Given the description of an element on the screen output the (x, y) to click on. 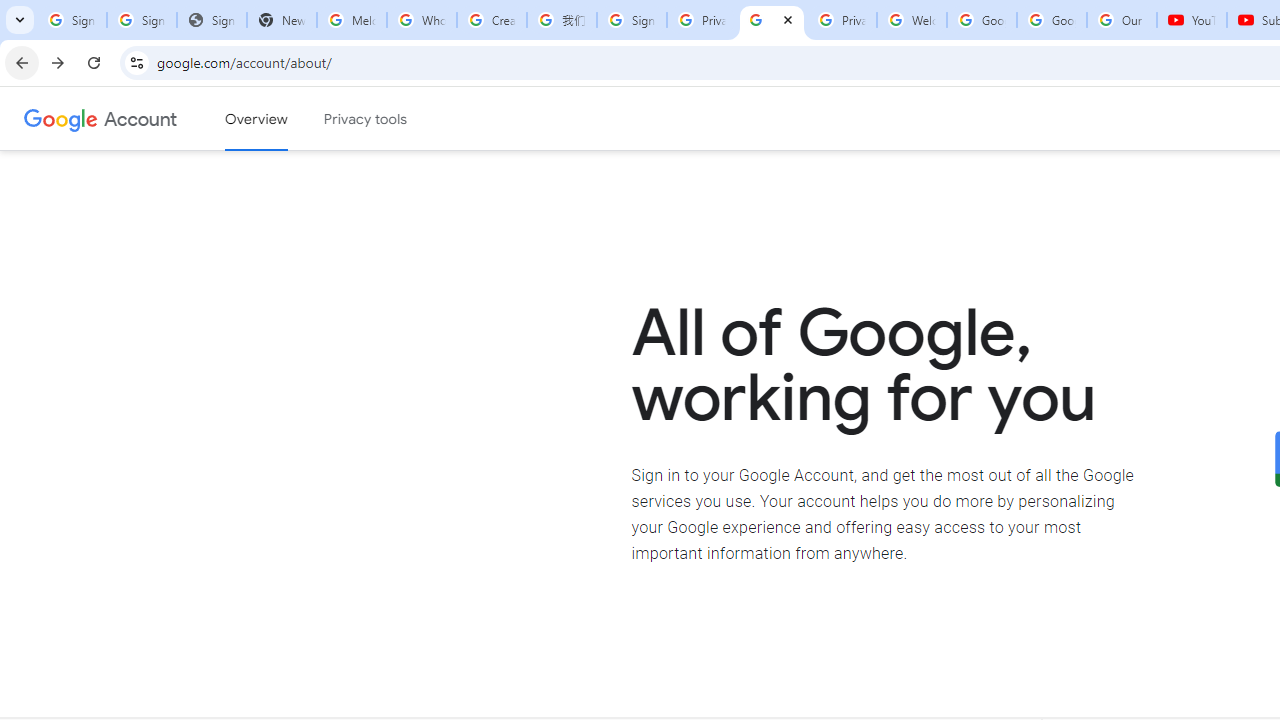
Welcome to My Activity (911, 20)
Google Account (1051, 20)
Sign in - Google Accounts (141, 20)
Who is my administrator? - Google Account Help (421, 20)
Google logo (61, 118)
